Given the description of an element on the screen output the (x, y) to click on. 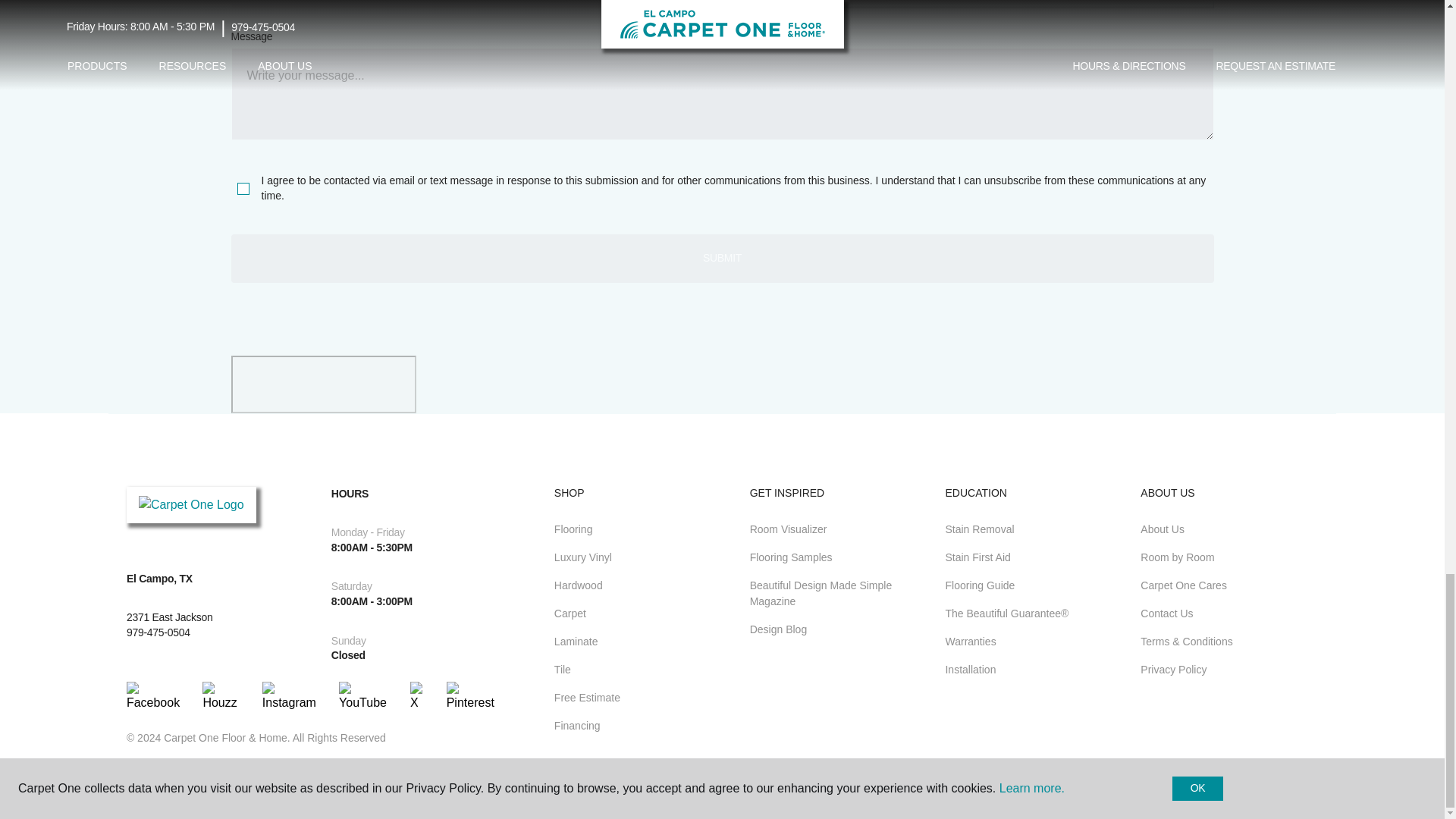
PostalCode (471, 4)
MyMessage (721, 93)
